Given the description of an element on the screen output the (x, y) to click on. 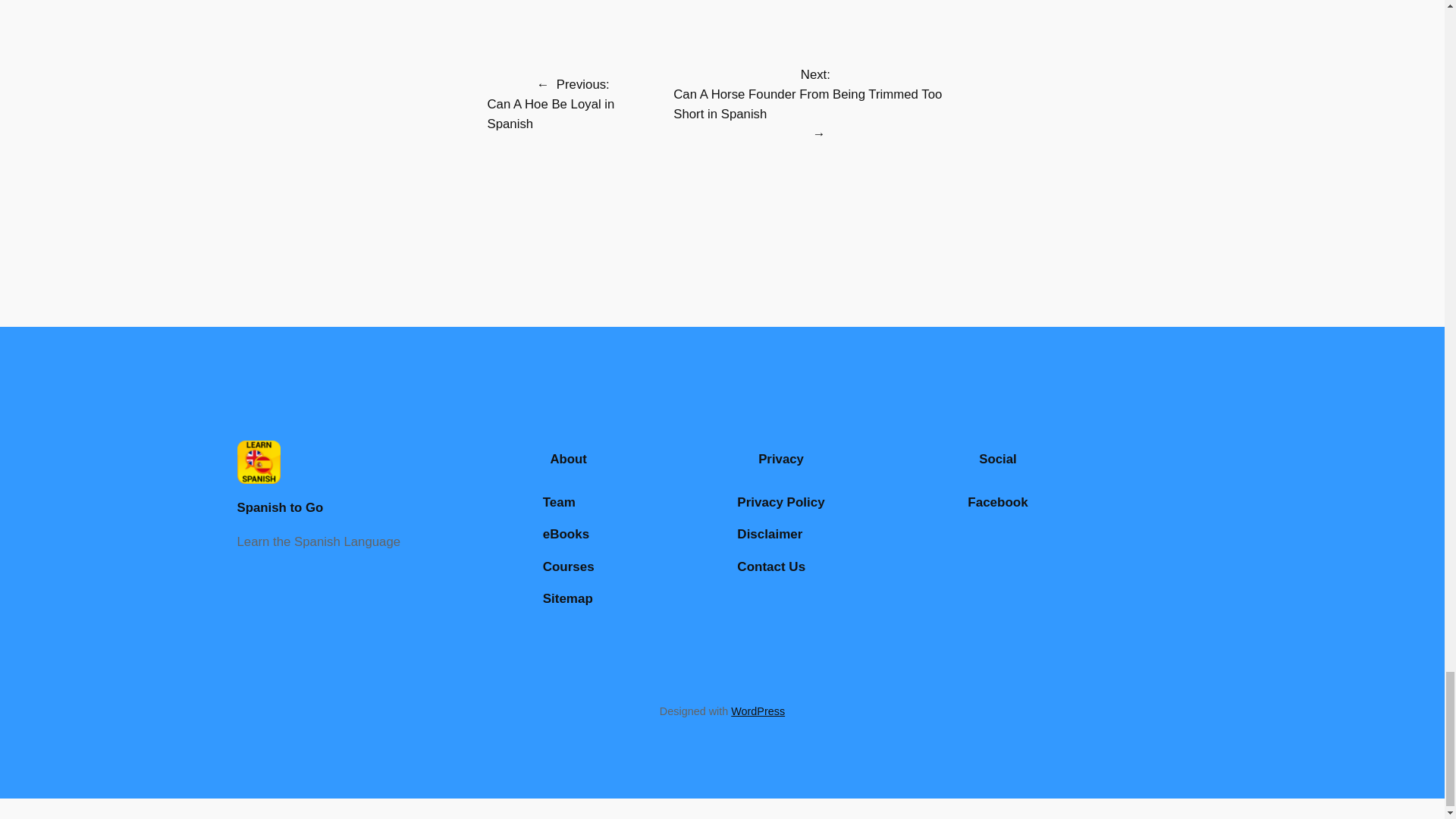
Previous: Can A Hoe Be Loyal in Spanish (572, 103)
Courses (568, 567)
Team (559, 502)
Spanish to Go (279, 507)
eBooks (566, 534)
